Given the description of an element on the screen output the (x, y) to click on. 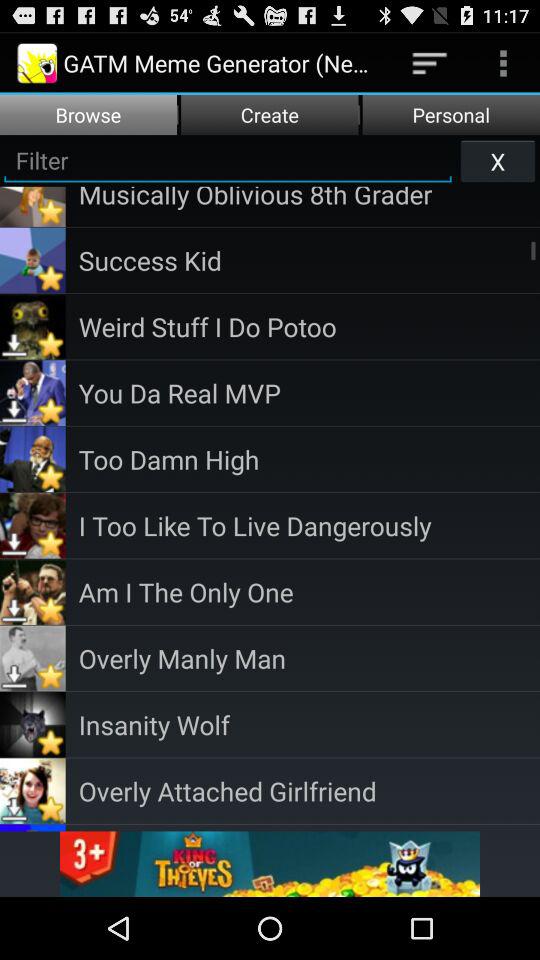
scroll until the i too like (309, 525)
